Given the description of an element on the screen output the (x, y) to click on. 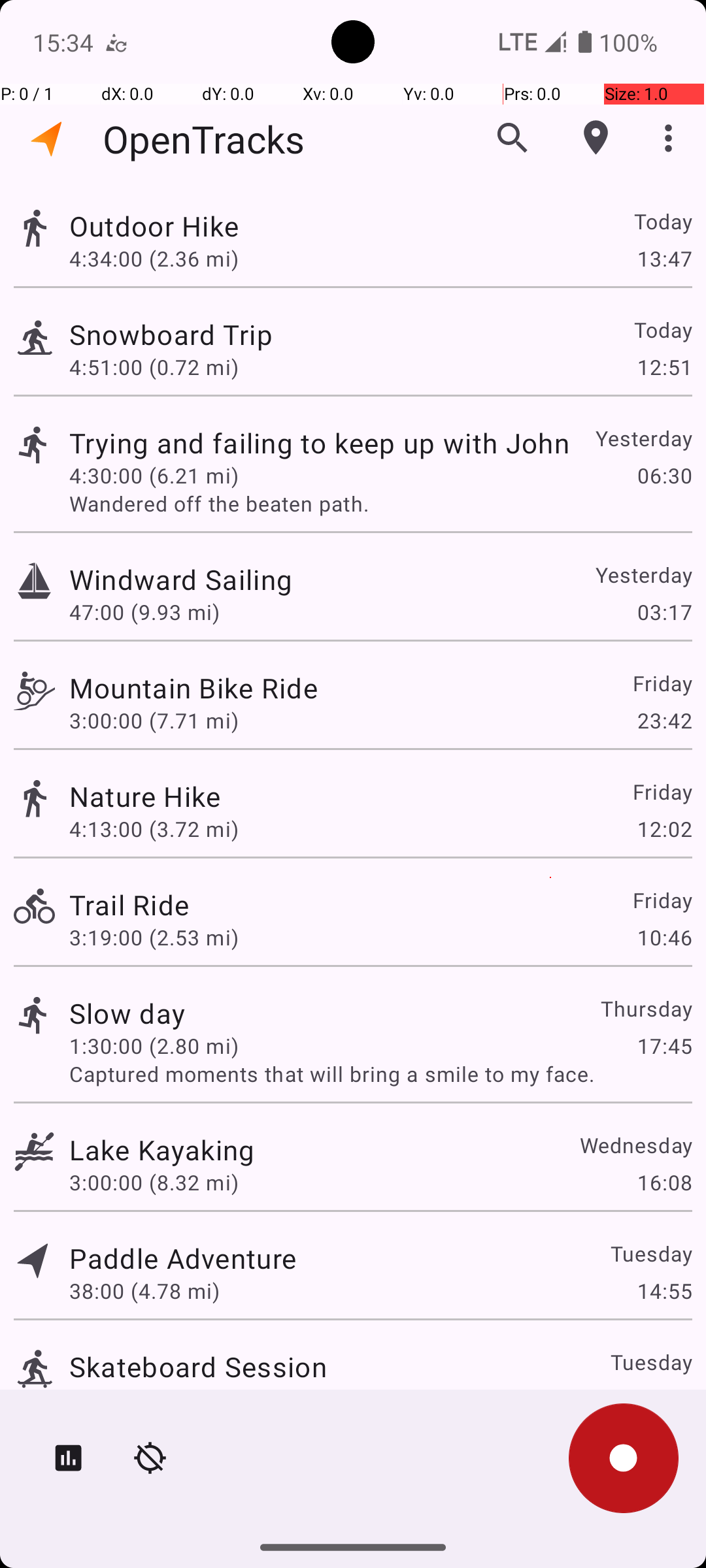
Outdoor Hike Element type: android.widget.TextView (153, 225)
4:34:00 (2.36 mi) Element type: android.widget.TextView (153, 258)
13:47 Element type: android.widget.TextView (664, 258)
Snowboard Trip Element type: android.widget.TextView (170, 333)
4:51:00 (0.72 mi) Element type: android.widget.TextView (153, 366)
12:51 Element type: android.widget.TextView (664, 366)
Trying and failing to keep up with John Element type: android.widget.TextView (319, 442)
4:30:00 (6.21 mi) Element type: android.widget.TextView (153, 475)
06:30 Element type: android.widget.TextView (664, 475)
Wandered off the beaten path. Element type: android.widget.TextView (380, 503)
Windward Sailing Element type: android.widget.TextView (180, 578)
47:00 (9.93 mi) Element type: android.widget.TextView (144, 611)
03:17 Element type: android.widget.TextView (664, 611)
Mountain Bike Ride Element type: android.widget.TextView (193, 687)
3:00:00 (7.71 mi) Element type: android.widget.TextView (153, 720)
23:42 Element type: android.widget.TextView (664, 720)
Nature Hike Element type: android.widget.TextView (144, 795)
4:13:00 (3.72 mi) Element type: android.widget.TextView (153, 828)
12:02 Element type: android.widget.TextView (664, 828)
Trail Ride Element type: android.widget.TextView (128, 904)
3:19:00 (2.53 mi) Element type: android.widget.TextView (153, 937)
10:46 Element type: android.widget.TextView (664, 937)
Slow day Element type: android.widget.TextView (126, 1012)
1:30:00 (2.80 mi) Element type: android.widget.TextView (153, 1045)
17:45 Element type: android.widget.TextView (664, 1045)
Captured moments that will bring a smile to my face. Element type: android.widget.TextView (380, 1073)
Lake Kayaking Element type: android.widget.TextView (161, 1149)
3:00:00 (8.32 mi) Element type: android.widget.TextView (153, 1182)
16:08 Element type: android.widget.TextView (664, 1182)
Paddle Adventure Element type: android.widget.TextView (182, 1257)
38:00 (4.78 mi) Element type: android.widget.TextView (144, 1290)
14:55 Element type: android.widget.TextView (664, 1290)
Skateboard Session Element type: android.widget.TextView (197, 1366)
4:38:00 (5.98 mi) Element type: android.widget.TextView (153, 1399)
00:28 Element type: android.widget.TextView (664, 1399)
